Given the description of an element on the screen output the (x, y) to click on. 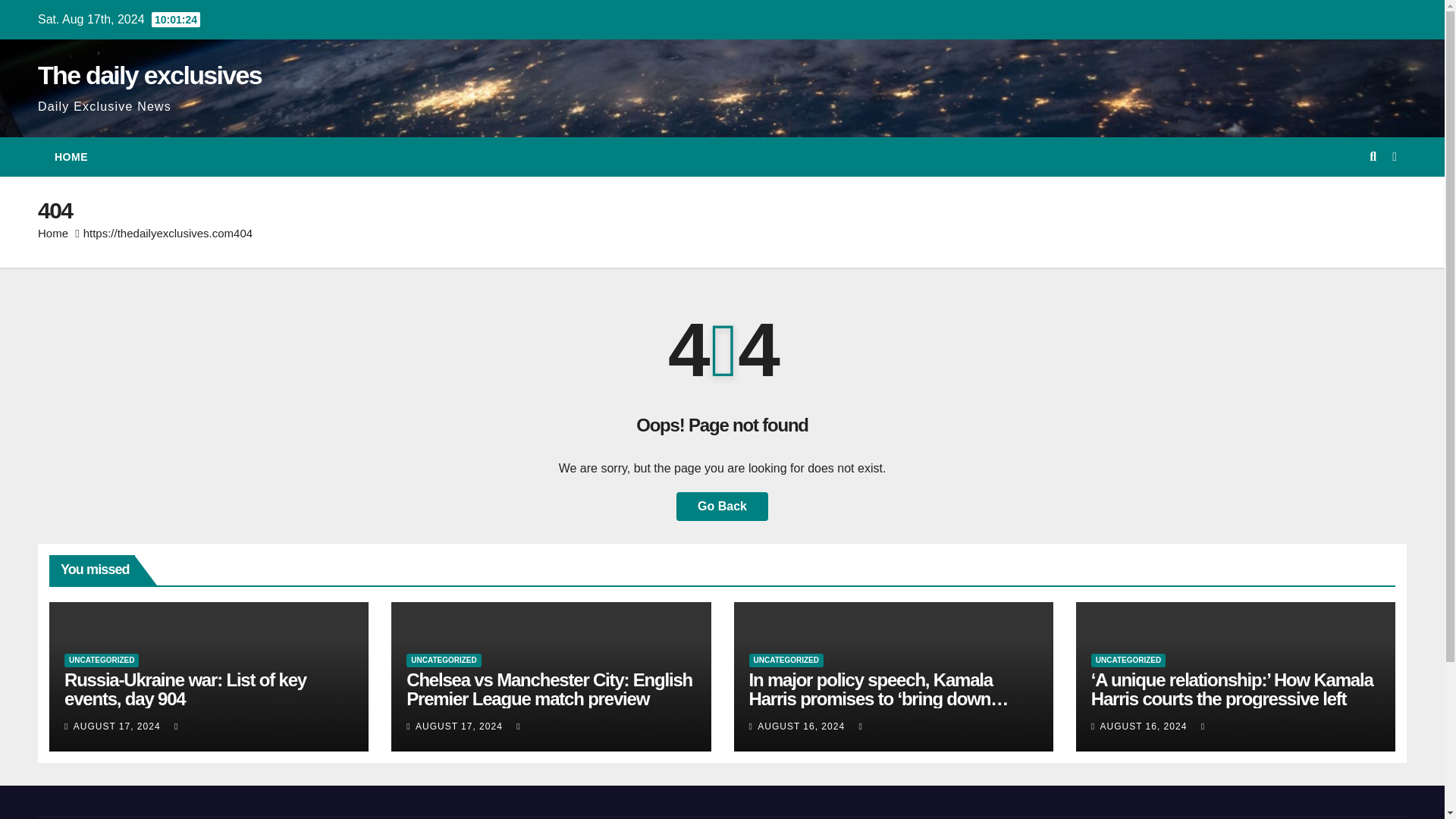
UNCATEGORIZED (443, 660)
AUGUST 17, 2024 (459, 726)
AUGUST 17, 2024 (118, 726)
HOME (70, 156)
UNCATEGORIZED (786, 660)
Home (70, 156)
Home (52, 232)
AUGUST 16, 2024 (1144, 726)
Russia-Ukraine war: List of key events, day 904 (184, 689)
